Given the description of an element on the screen output the (x, y) to click on. 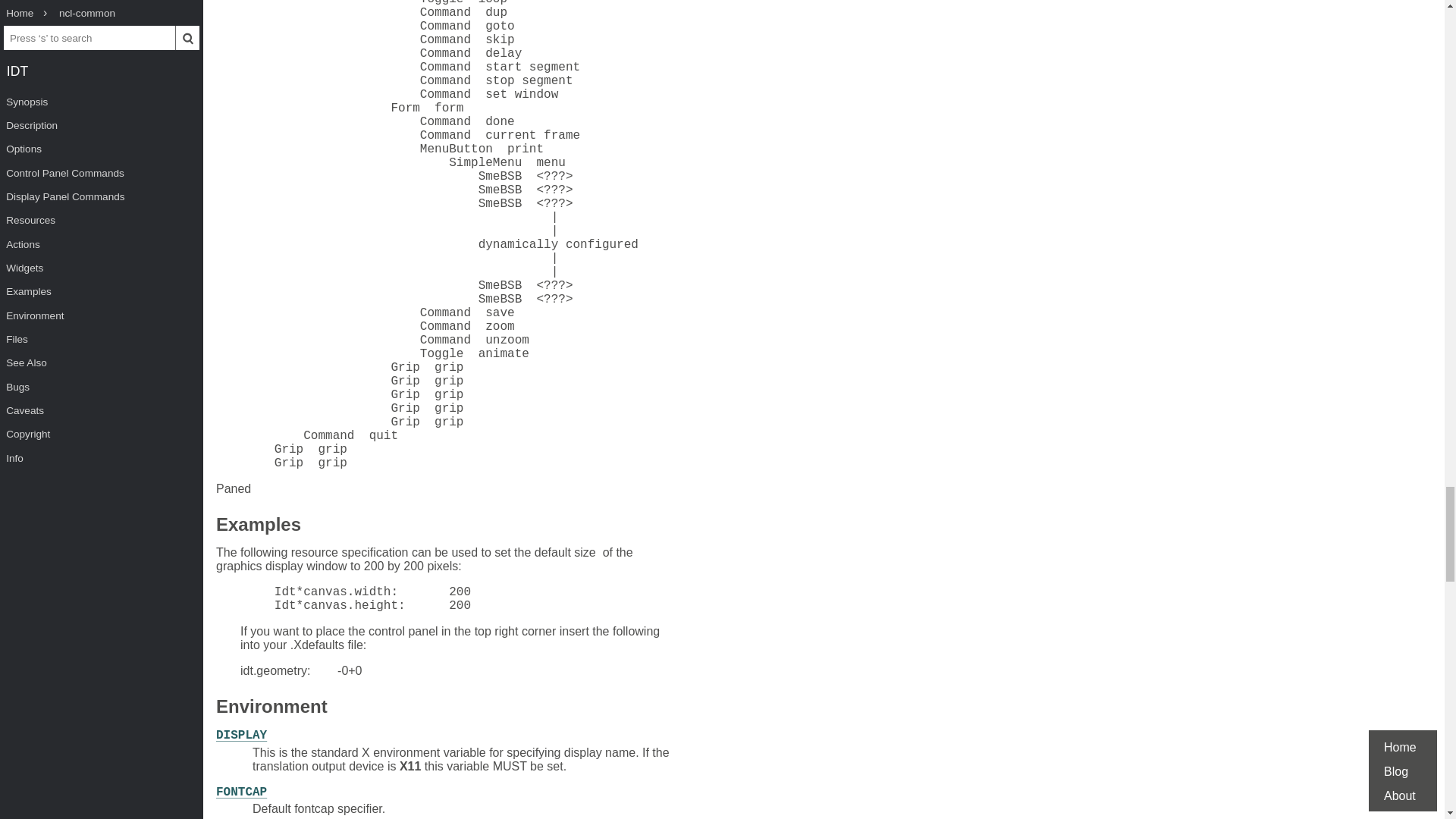
Examples (258, 526)
FONTCAP (240, 792)
DISPLAY (240, 735)
Environment (271, 707)
